Given the description of an element on the screen output the (x, y) to click on. 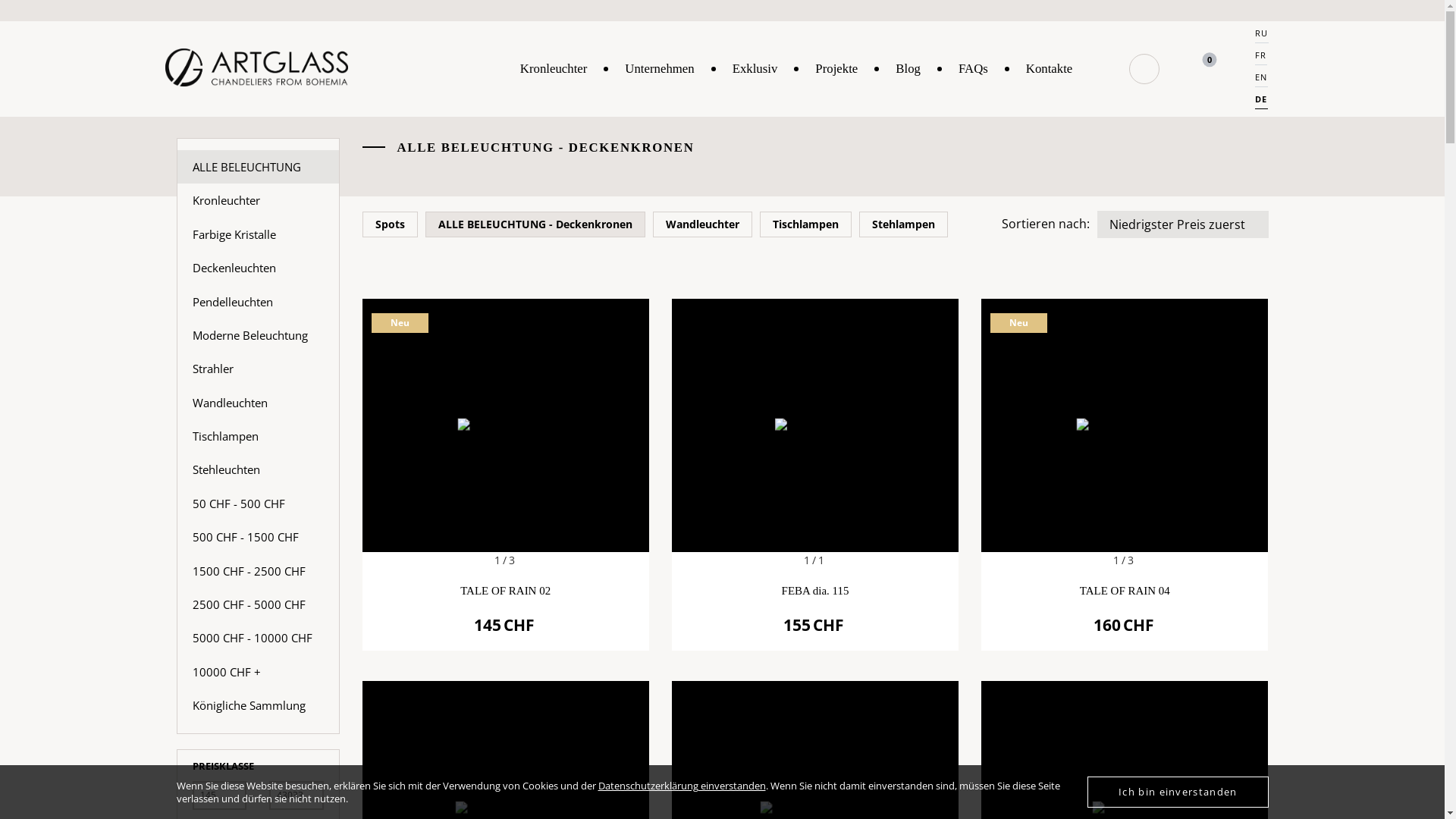
Blog Element type: text (907, 68)
1/3
Neu
TALE OF RAIN 02
145CHF Element type: text (505, 474)
Spots Element type: text (389, 223)
Exklusiv Element type: text (755, 68)
Kronleuchter Element type: text (257, 199)
ALLE BELEUCHTUNG Element type: text (257, 166)
Unternehmen Element type: text (658, 68)
2500 CHF - 5000 CHF Element type: text (257, 604)
RU Element type: text (1261, 35)
DE Element type: text (1261, 101)
Tischlampen Element type: text (257, 435)
Wandleuchter Element type: text (701, 223)
FEBA dia. 115 Element type: hover (814, 424)
Pendelleuchten Element type: text (257, 301)
Tischlampen Element type: text (805, 223)
Stehlampen Element type: text (902, 223)
Strahler Element type: text (257, 368)
50 CHF - 500 CHF Element type: text (257, 503)
Farbige Kristalle Element type: text (257, 234)
1/3
Neu
TALE OF RAIN 04
160CHF Element type: text (1124, 474)
Wandleuchten Element type: text (257, 402)
Ich bin einverstanden Element type: text (1177, 791)
Deckenleuchten Element type: text (257, 267)
5000 CHF - 10000 CHF Element type: text (257, 637)
1500 CHF - 2500 CHF Element type: text (257, 569)
Projekte Element type: text (836, 68)
10000 CHF + Element type: text (257, 671)
FAQs Element type: text (973, 68)
TALE OF RAIN 02 Element type: hover (505, 424)
1/1
FEBA dia. 115
155CHF Element type: text (814, 474)
TALE OF RAIN 04 Element type: hover (1124, 424)
Stehleuchten Element type: text (257, 469)
EN Element type: text (1261, 79)
Moderne Beleuchtung Element type: text (257, 334)
Kronleuchter Element type: text (553, 68)
500 CHF - 1500 CHF Element type: text (257, 536)
0 Element type: text (1195, 68)
Kontakte Element type: text (1049, 68)
ALLE BELEUCHTUNG - Deckenkronen Element type: text (534, 223)
FR Element type: text (1260, 57)
